Given the description of an element on the screen output the (x, y) to click on. 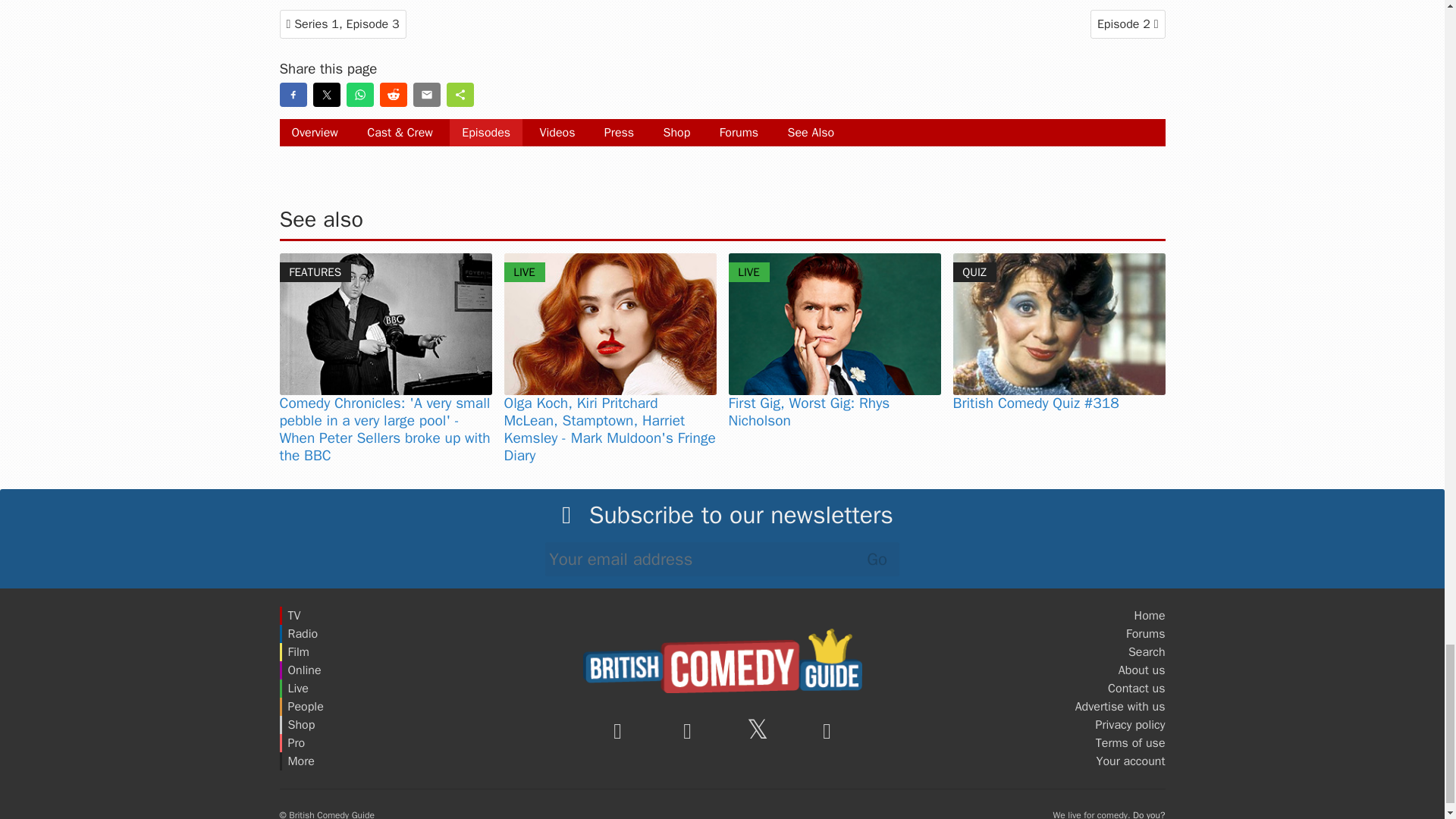
Rhys Nicholson. Credit: Monika Pronk (834, 323)
Hannah Platt (609, 323)
Peter Sellers: A State Of Comic Ecstasy. Peter Sellers (385, 323)
